Given the description of an element on the screen output the (x, y) to click on. 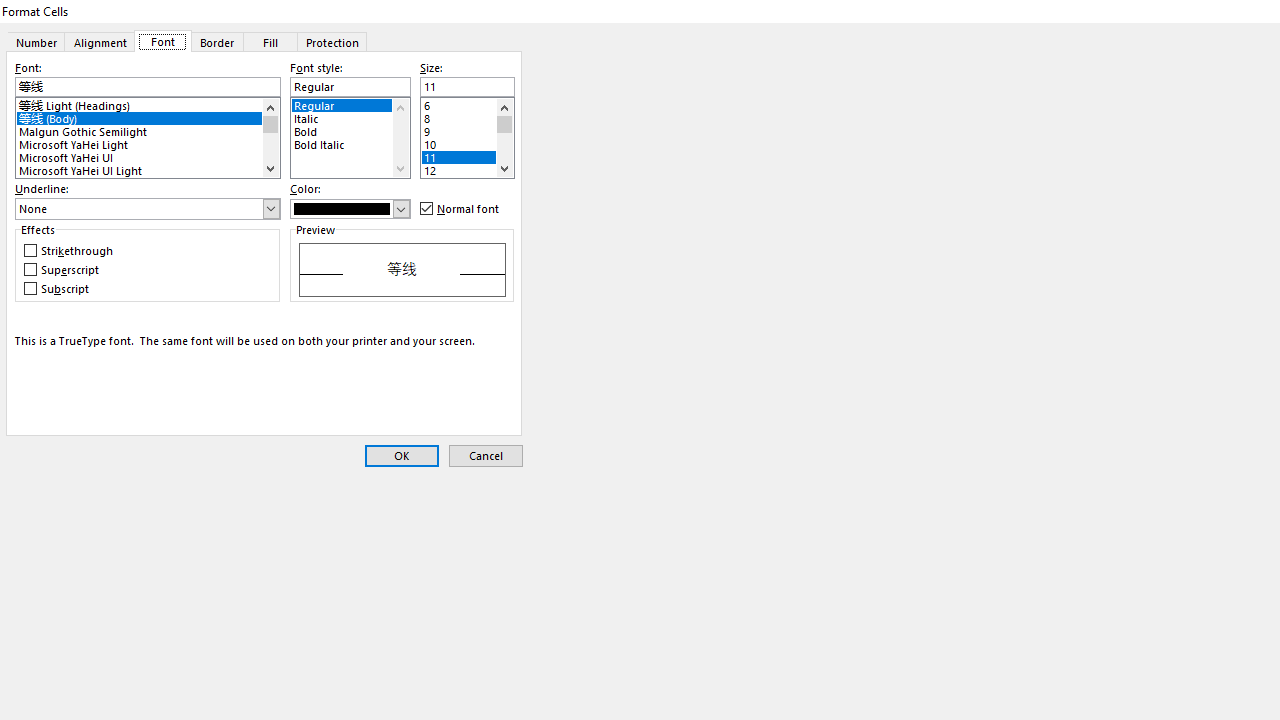
Bold (350, 129)
Fill (271, 41)
AutomationID: 4672 (504, 138)
11 (466, 155)
Strikethrough (70, 251)
8 (466, 116)
10 (466, 142)
AutomationID: 4668 (270, 138)
Normal font (460, 208)
Microsoft YaHei UI Light (148, 168)
9 (466, 129)
Alignment (100, 41)
